Given the description of an element on the screen output the (x, y) to click on. 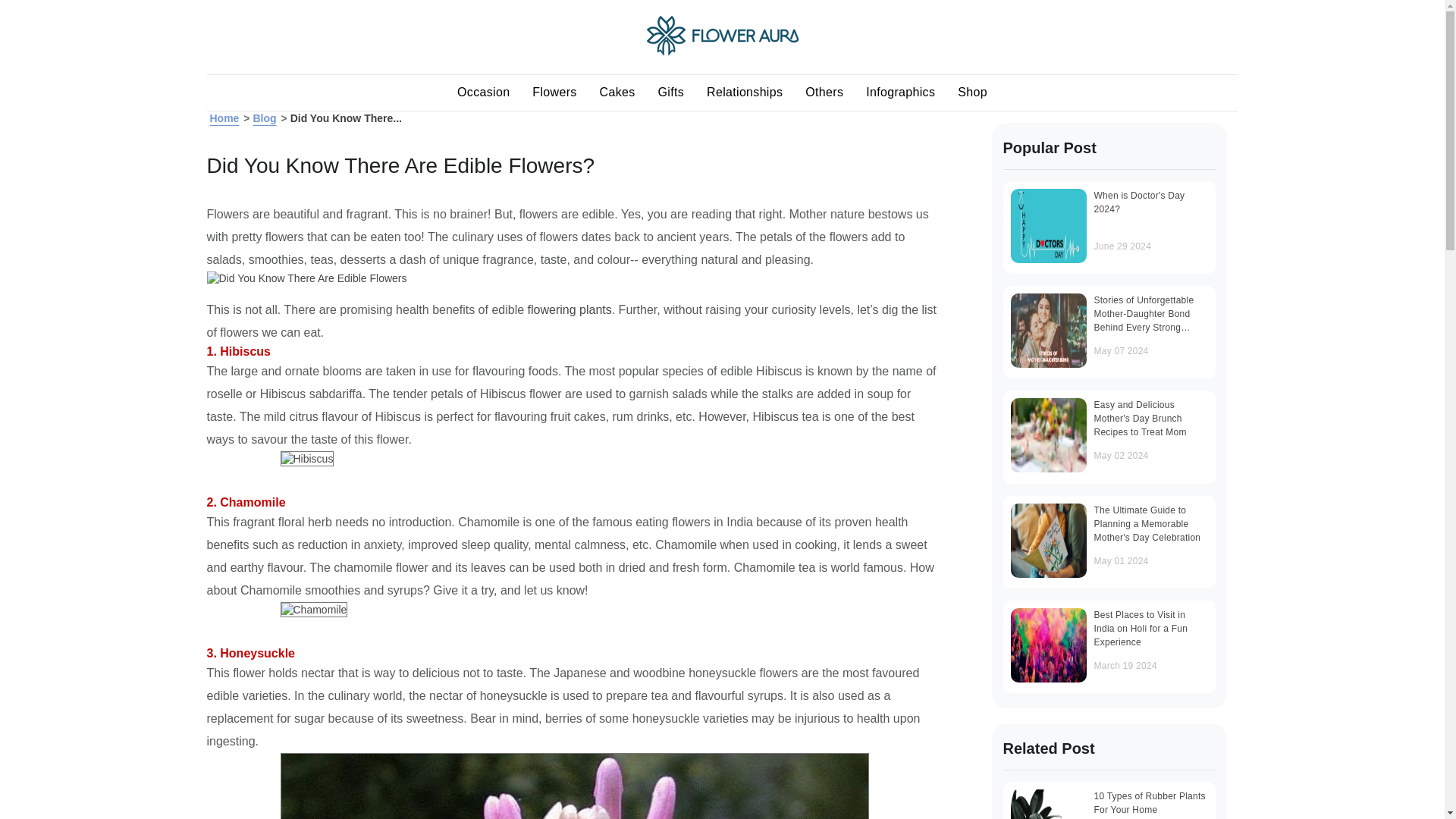
Blog (264, 118)
Best Places to Visit in India on Holi for a Fun Experience (1048, 645)
Home (224, 118)
flowering plants (569, 309)
Relationships (744, 92)
Infographics (900, 92)
Shop (972, 92)
Cakes (617, 92)
Home (224, 118)
Honeysuckle (575, 785)
Chamomile (314, 609)
Home (722, 51)
10 Types of Rubber Plants For Your Home (1048, 804)
